Given the description of an element on the screen output the (x, y) to click on. 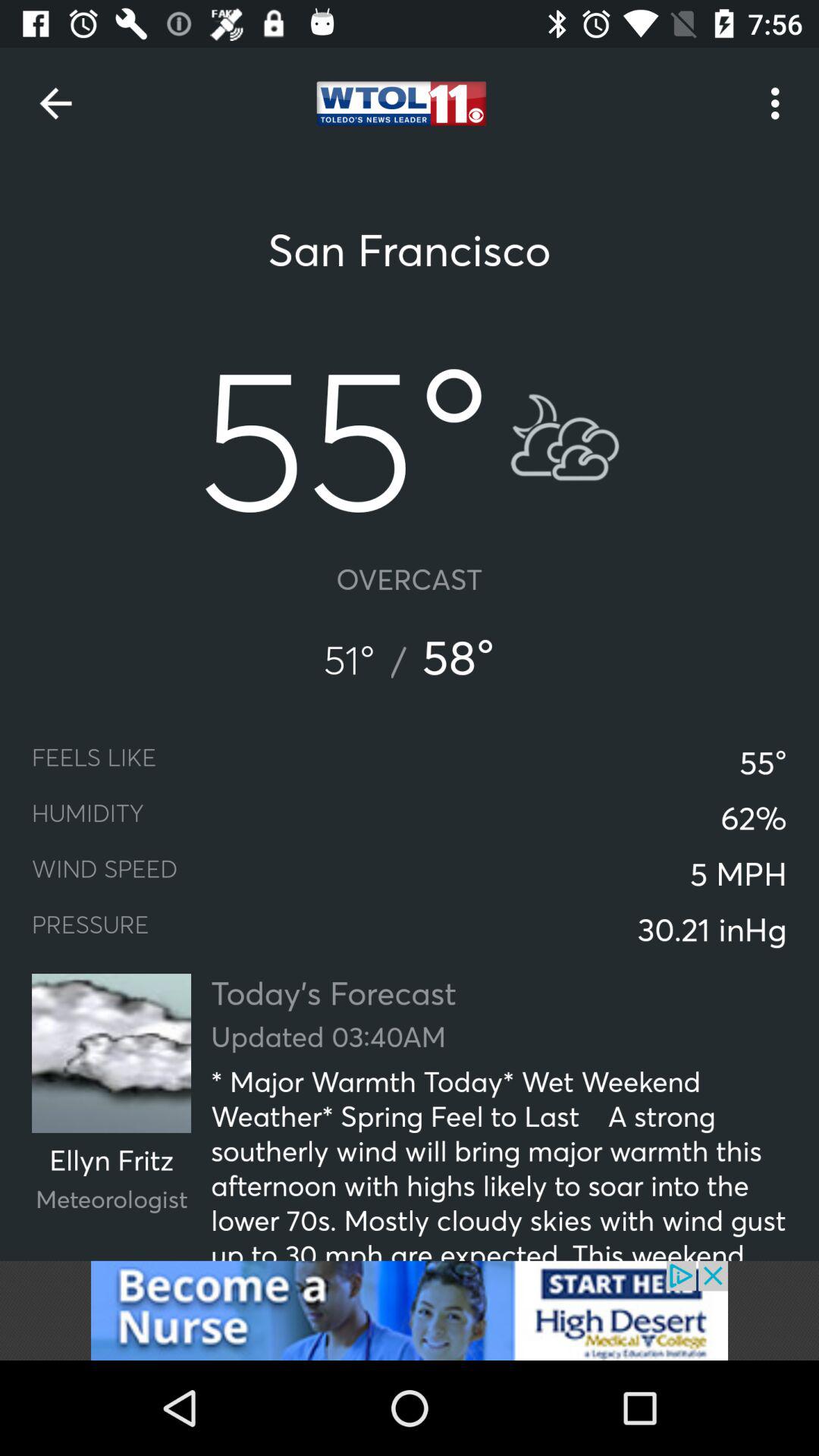
select image (409, 1310)
